Given the description of an element on the screen output the (x, y) to click on. 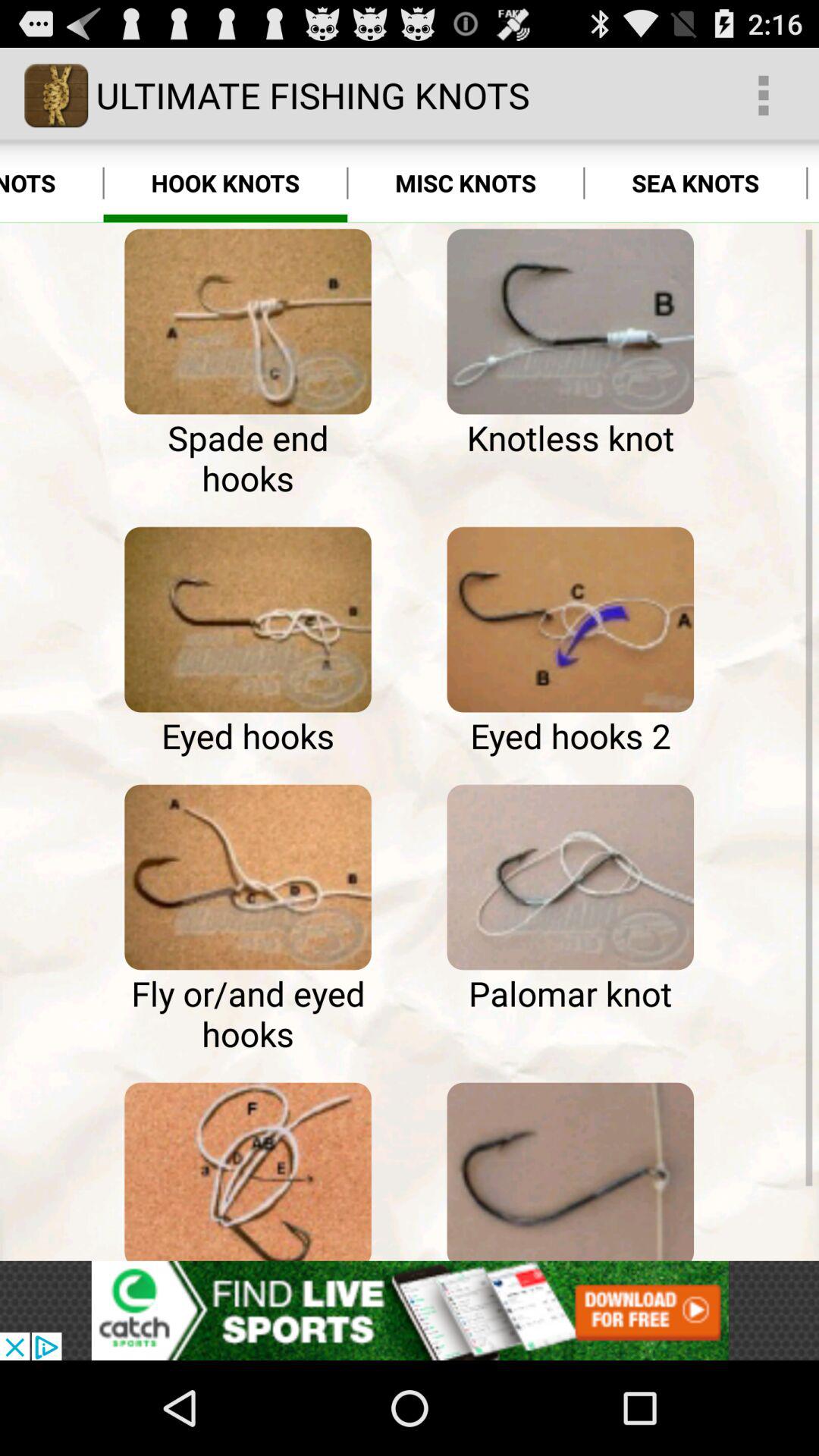
advertisement (409, 1310)
